Given the description of an element on the screen output the (x, y) to click on. 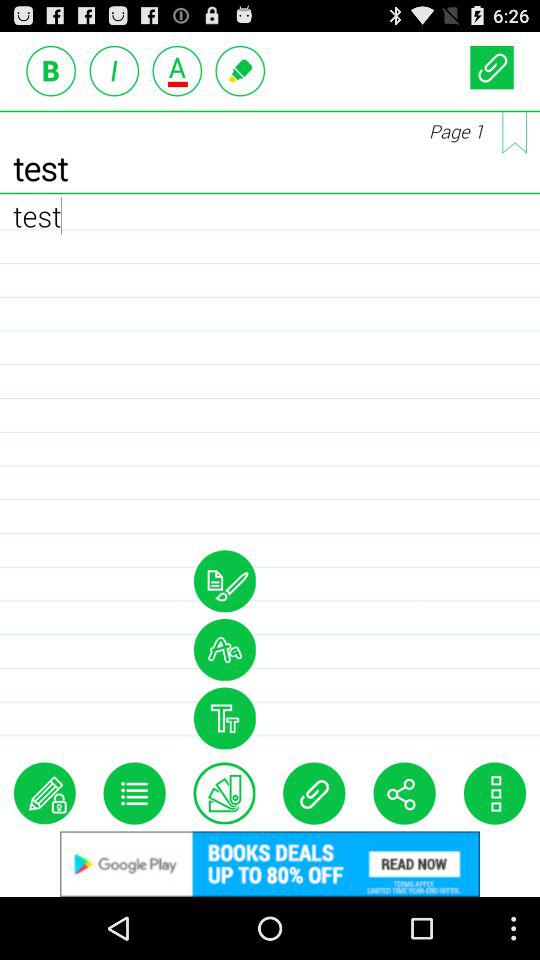
bookmark page (514, 132)
